Given the description of an element on the screen output the (x, y) to click on. 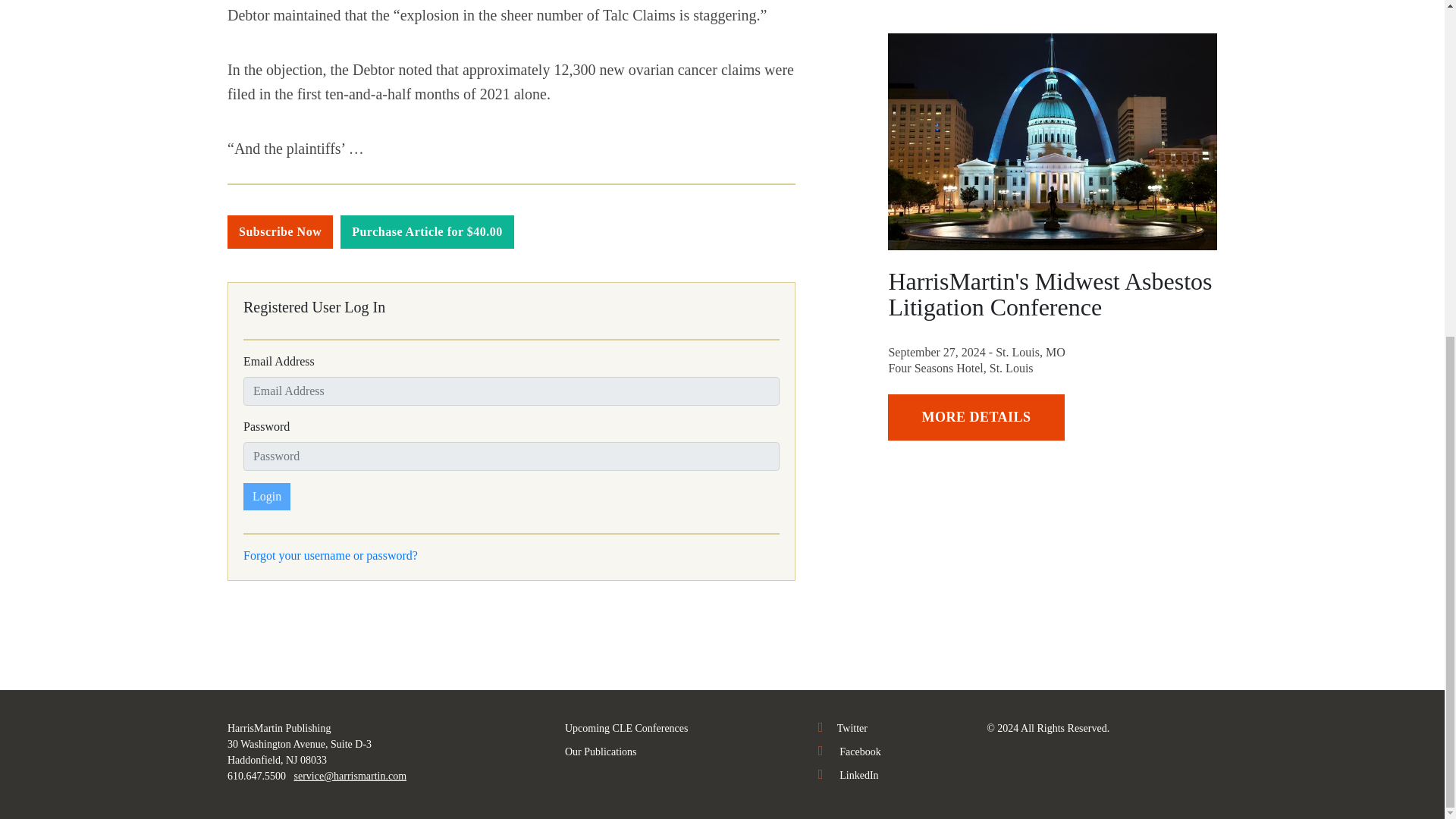
Twitter (842, 727)
Facebook (849, 751)
LinkedIn (848, 775)
Subscribe Now (280, 231)
Login (266, 496)
MORE DETAILS (976, 416)
Upcoming CLE Conferences (626, 727)
Our Publications (600, 751)
Forgot your username or password? (330, 554)
